Given the description of an element on the screen output the (x, y) to click on. 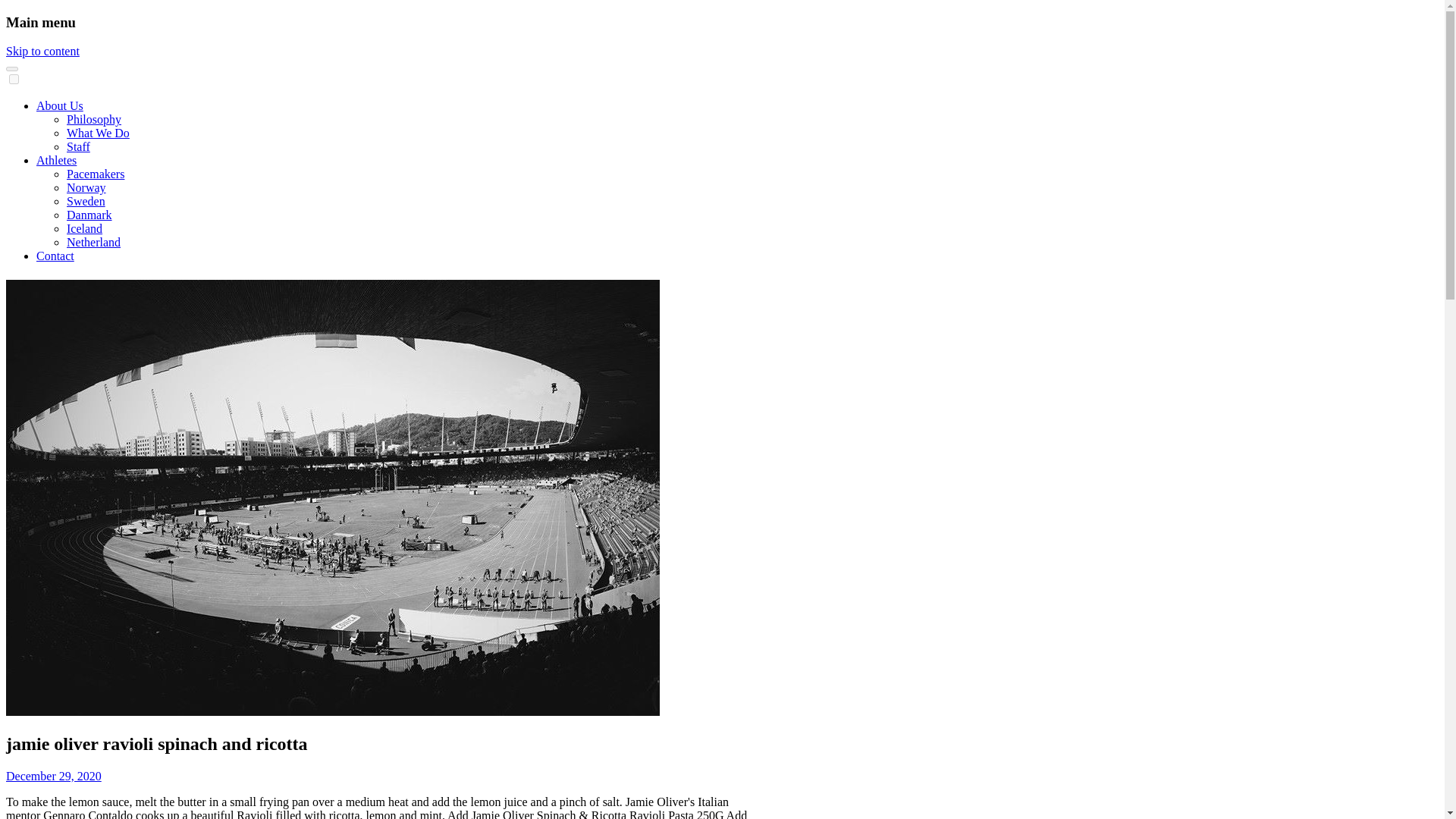
Contact (55, 255)
Skip to content (42, 51)
Athletes (56, 160)
Pacemakers (94, 173)
Iceland (83, 228)
Skip to content (42, 51)
Danmark (89, 214)
What We Do (97, 132)
on (13, 79)
Netherland (93, 241)
Staff (78, 146)
Norway (86, 187)
December 29, 2020 (53, 775)
Sweden (85, 201)
About Us (59, 105)
